Given the description of an element on the screen output the (x, y) to click on. 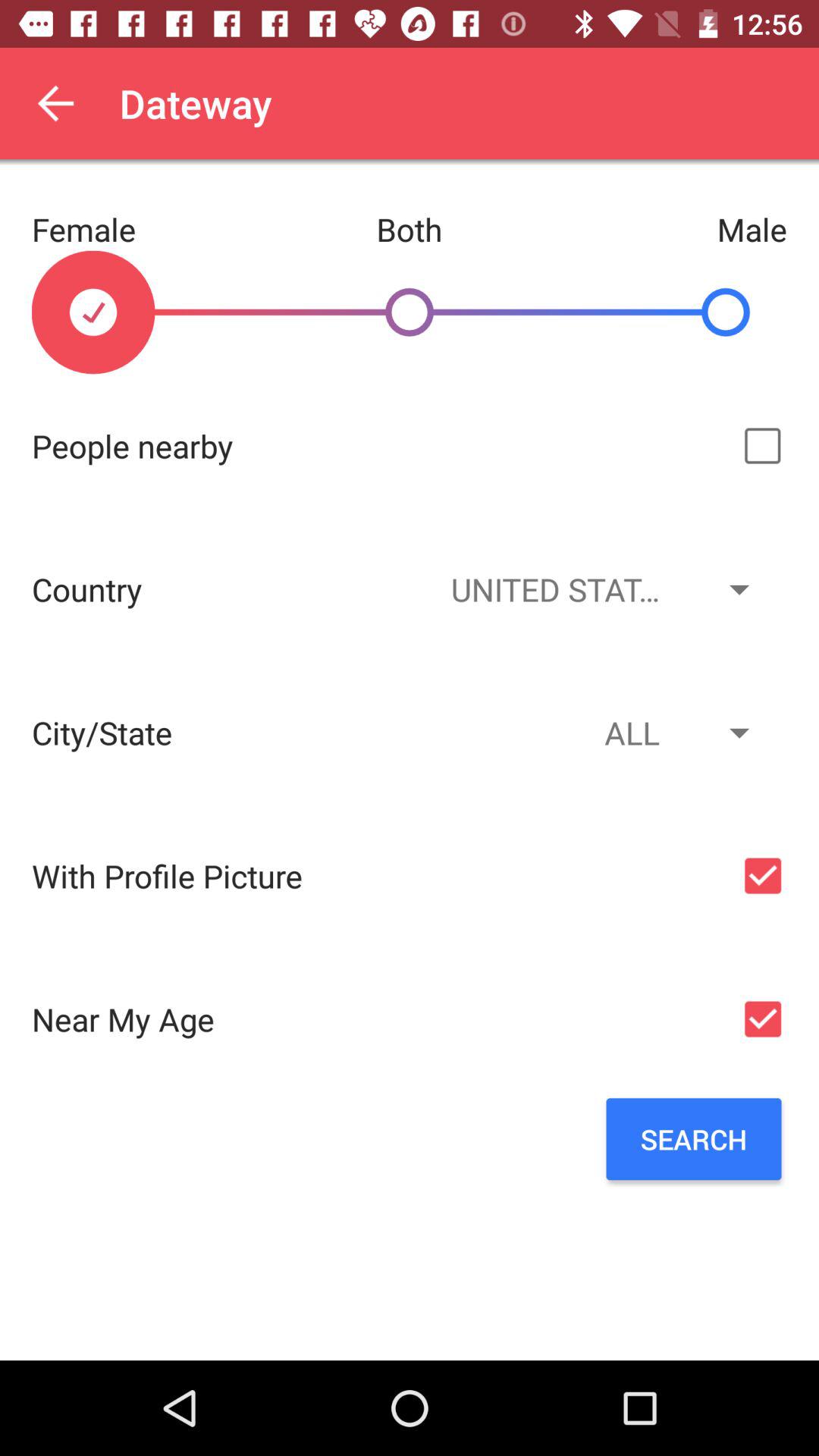
launch app to the left of dateway icon (55, 103)
